Given the description of an element on the screen output the (x, y) to click on. 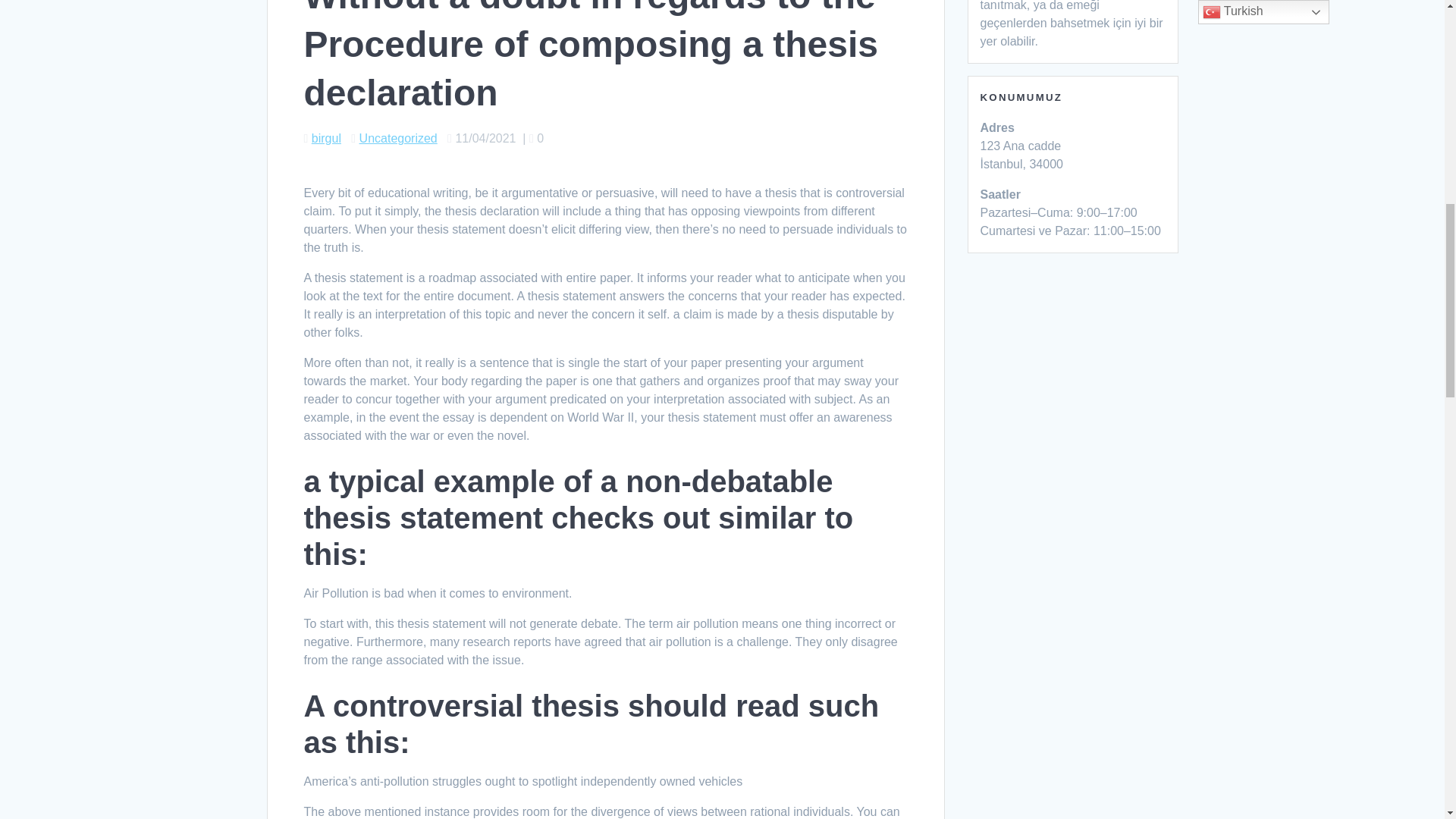
birgul (325, 137)
Uncategorized (398, 137)
